Given the description of an element on the screen output the (x, y) to click on. 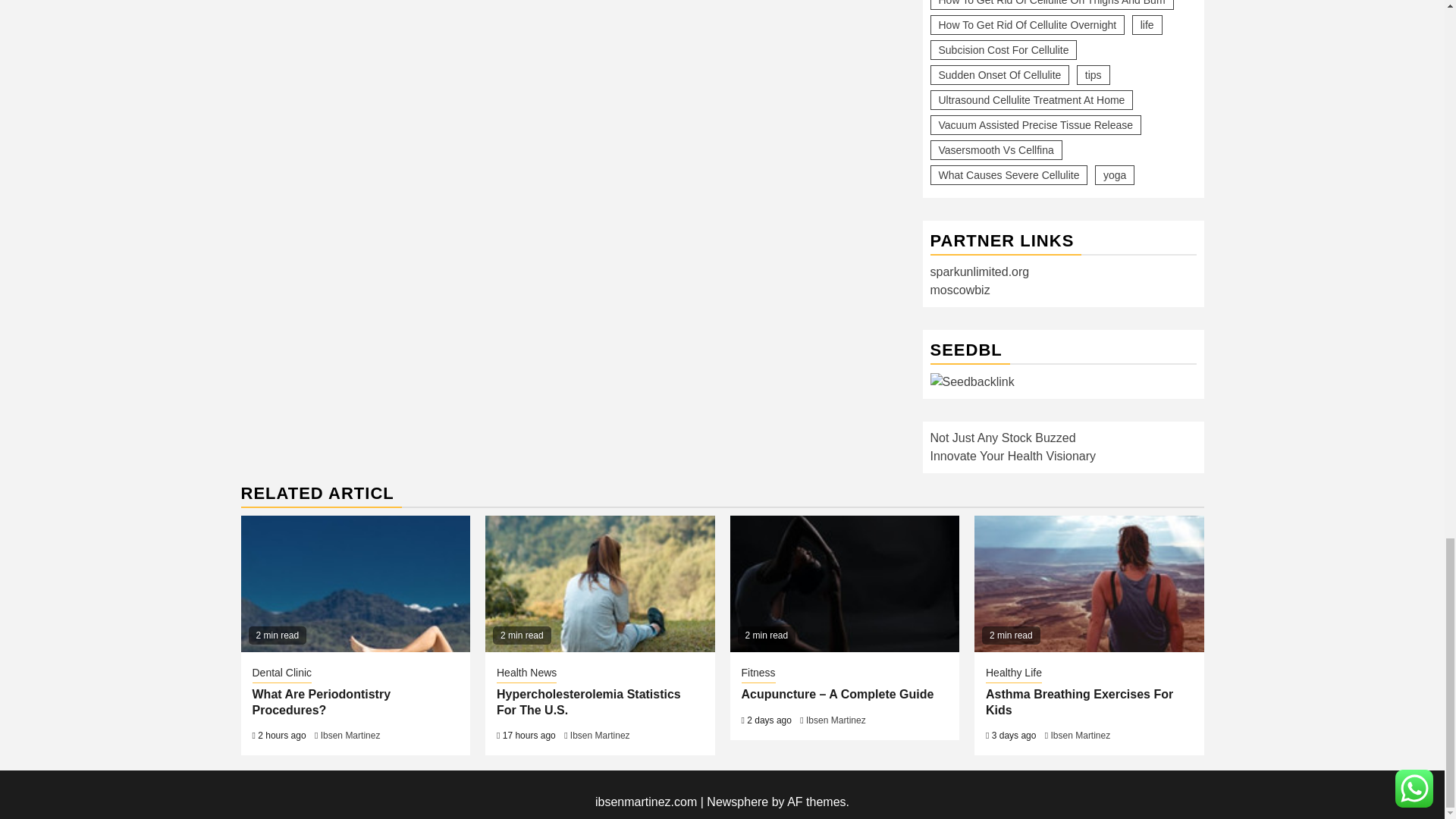
Hypercholesterolemia Statistics For The U.S. (599, 583)
What Are Periodontistry Procedures? (355, 583)
Seedbacklink (971, 382)
